Given the description of an element on the screen output the (x, y) to click on. 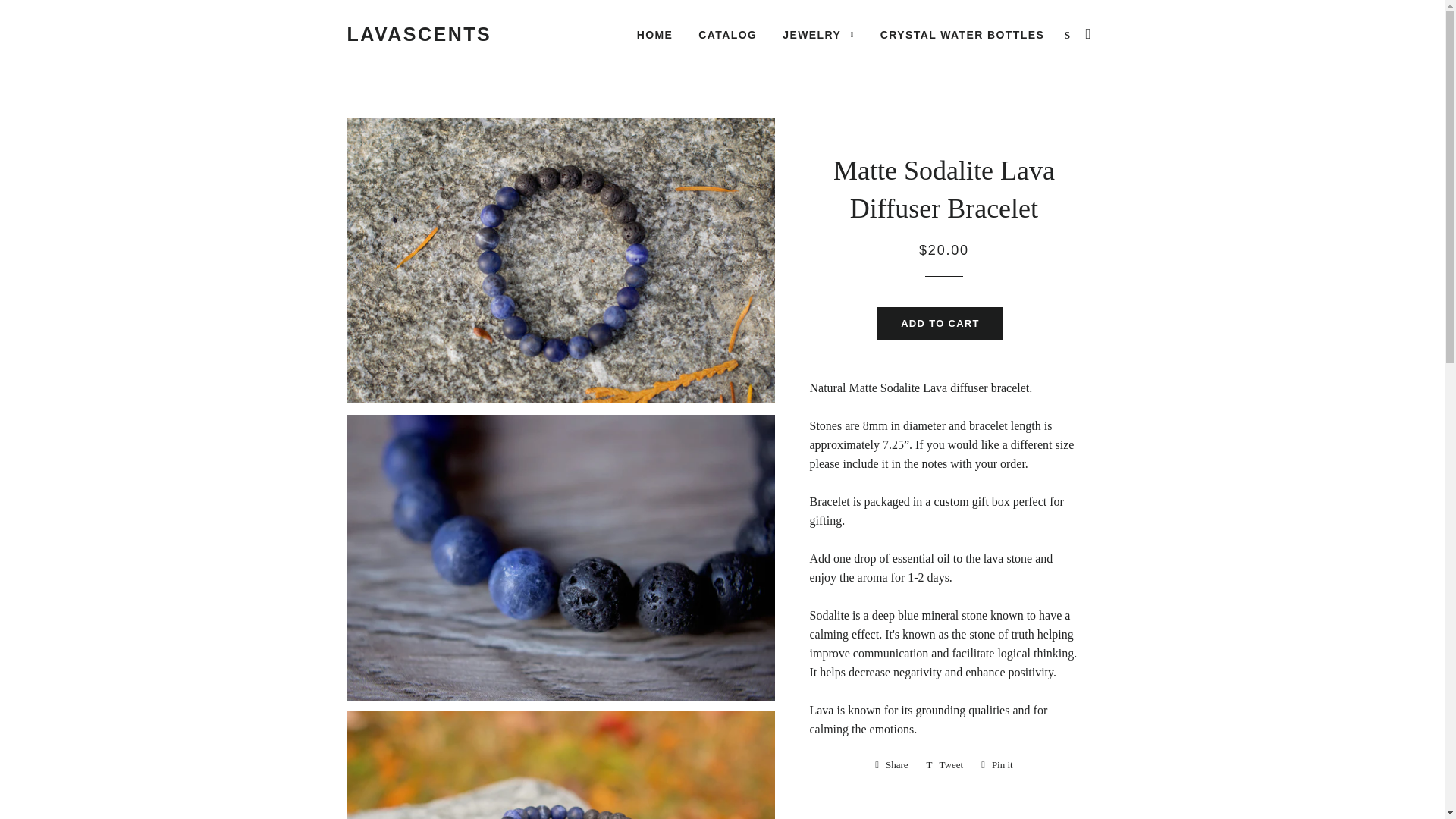
SEARCH (891, 764)
Tweet on Twitter (1067, 33)
CRYSTAL WATER BOTTLES (944, 764)
CATALOG (962, 35)
LAVASCENTS (944, 764)
CART (997, 764)
ADD TO CART (727, 35)
JEWELRY (419, 34)
Share on Facebook (1088, 33)
HOME (940, 323)
Pin on Pinterest (818, 35)
